Given the description of an element on the screen output the (x, y) to click on. 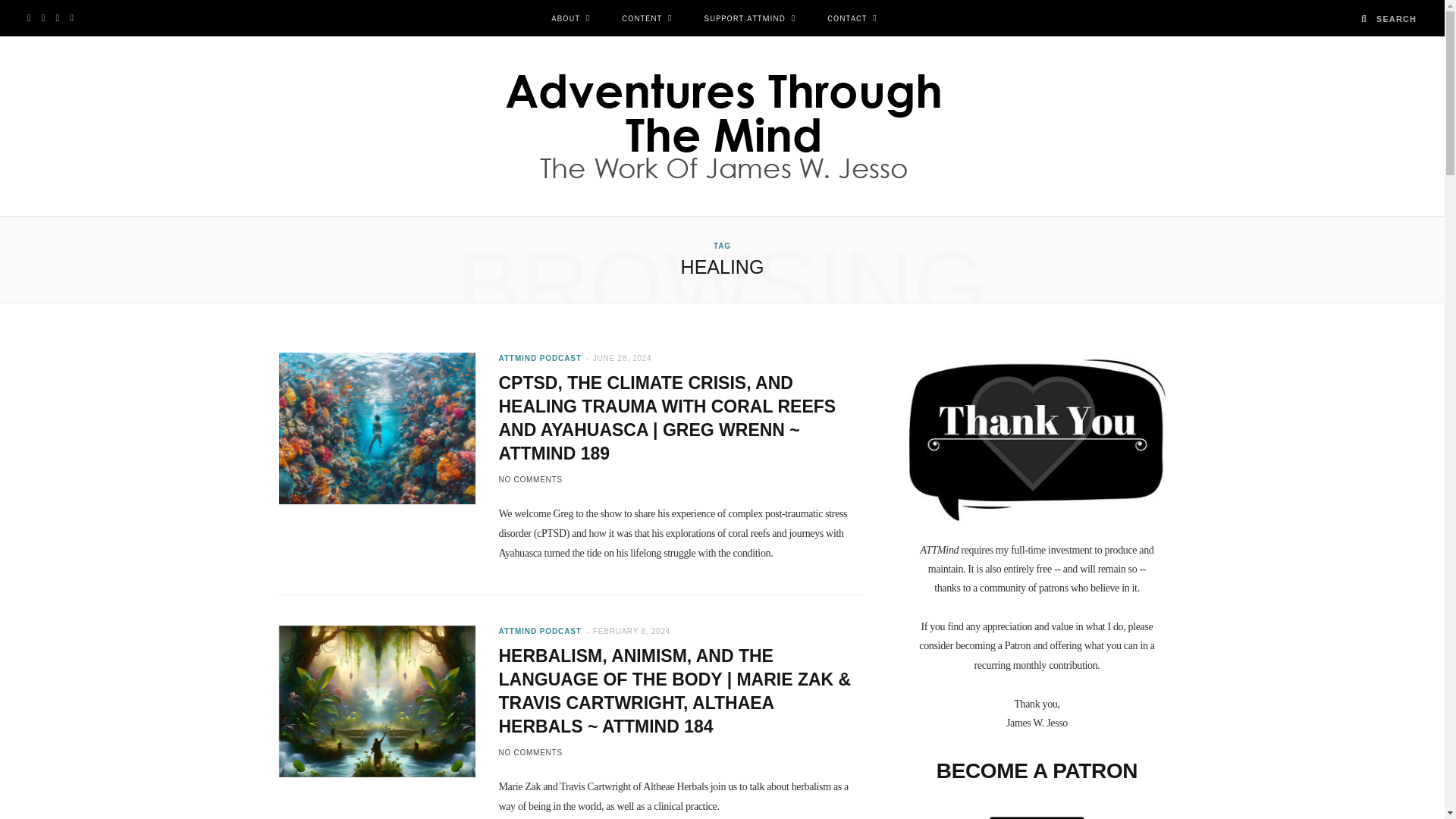
ABOUT (570, 18)
CONTENT (646, 18)
NO COMMENTS (529, 752)
Adventures Through The Mind (722, 126)
JUNE 28, 2024 (622, 357)
ATTMIND PODCAST (538, 631)
ATTMIND PODCAST (538, 357)
FEBRUARY 8, 2024 (630, 631)
SUPPORT ATTMIND (748, 18)
CONTACT (851, 18)
NO COMMENTS (529, 479)
